Given the description of an element on the screen output the (x, y) to click on. 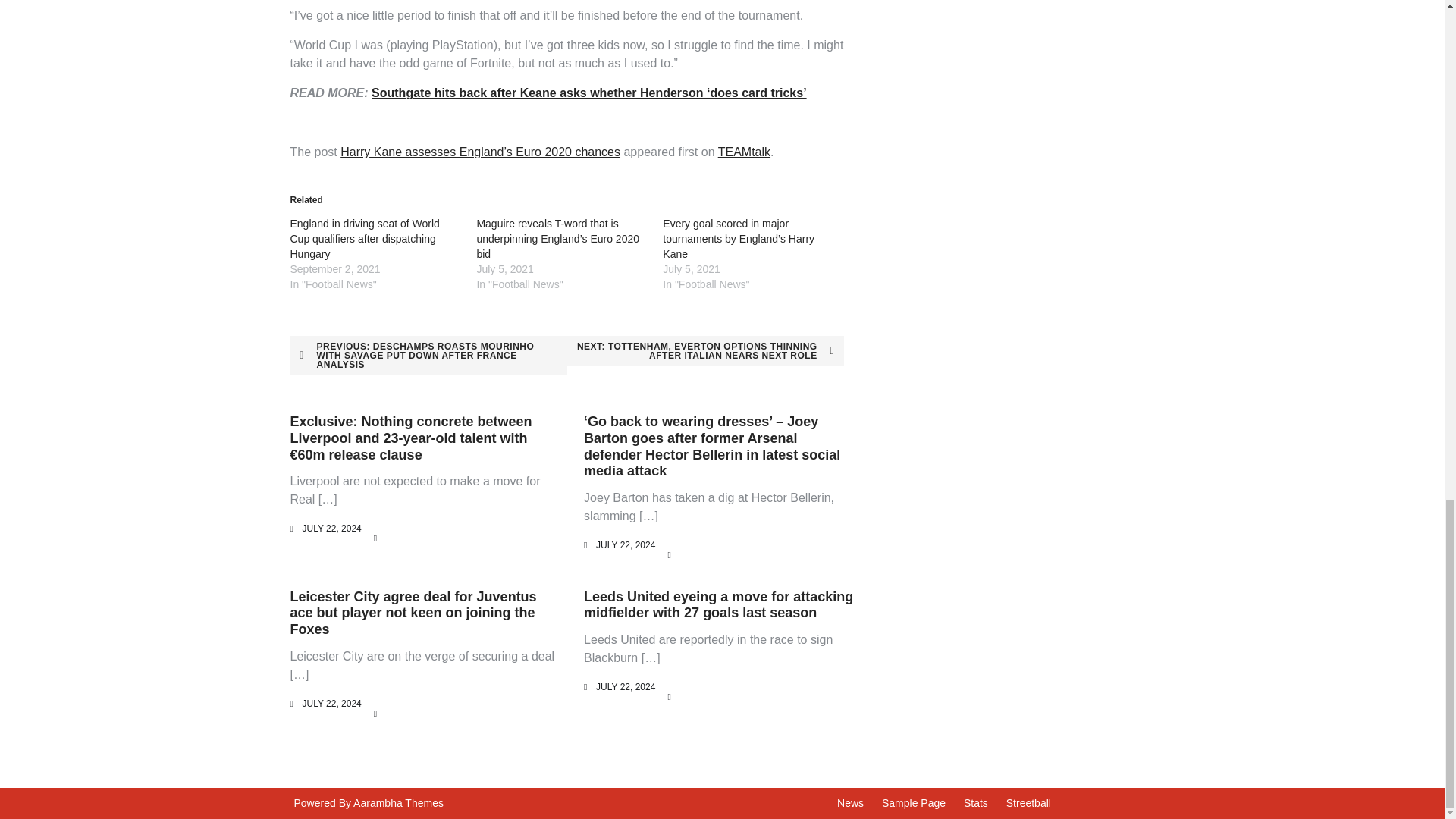
JULY 22, 2024 (331, 703)
JULY 22, 2024 (625, 544)
TEAMtalk (743, 151)
JULY 22, 2024 (625, 686)
JULY 22, 2024 (331, 528)
